Given the description of an element on the screen output the (x, y) to click on. 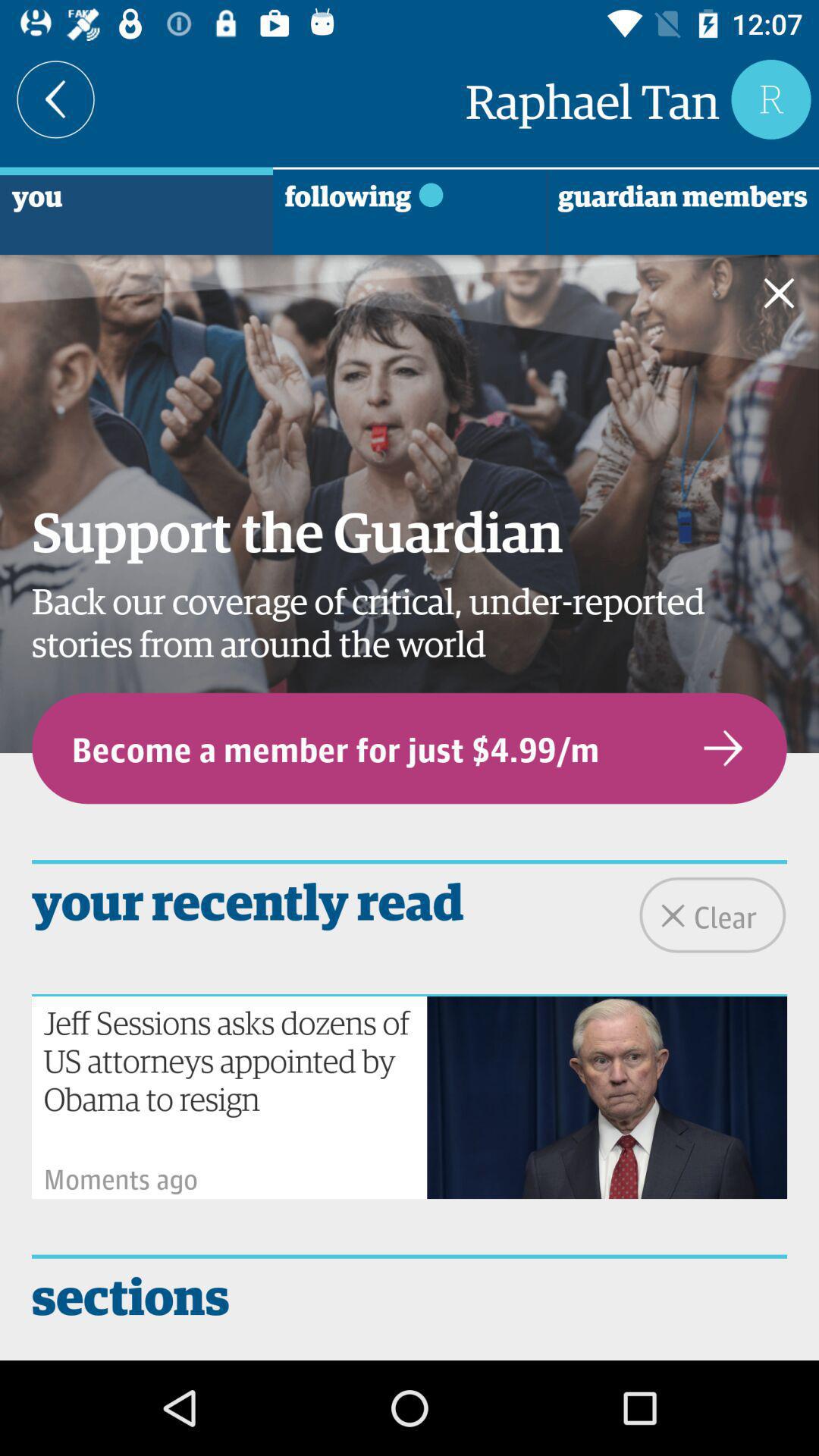
jump to raphael tan (592, 99)
